Given the description of an element on the screen output the (x, y) to click on. 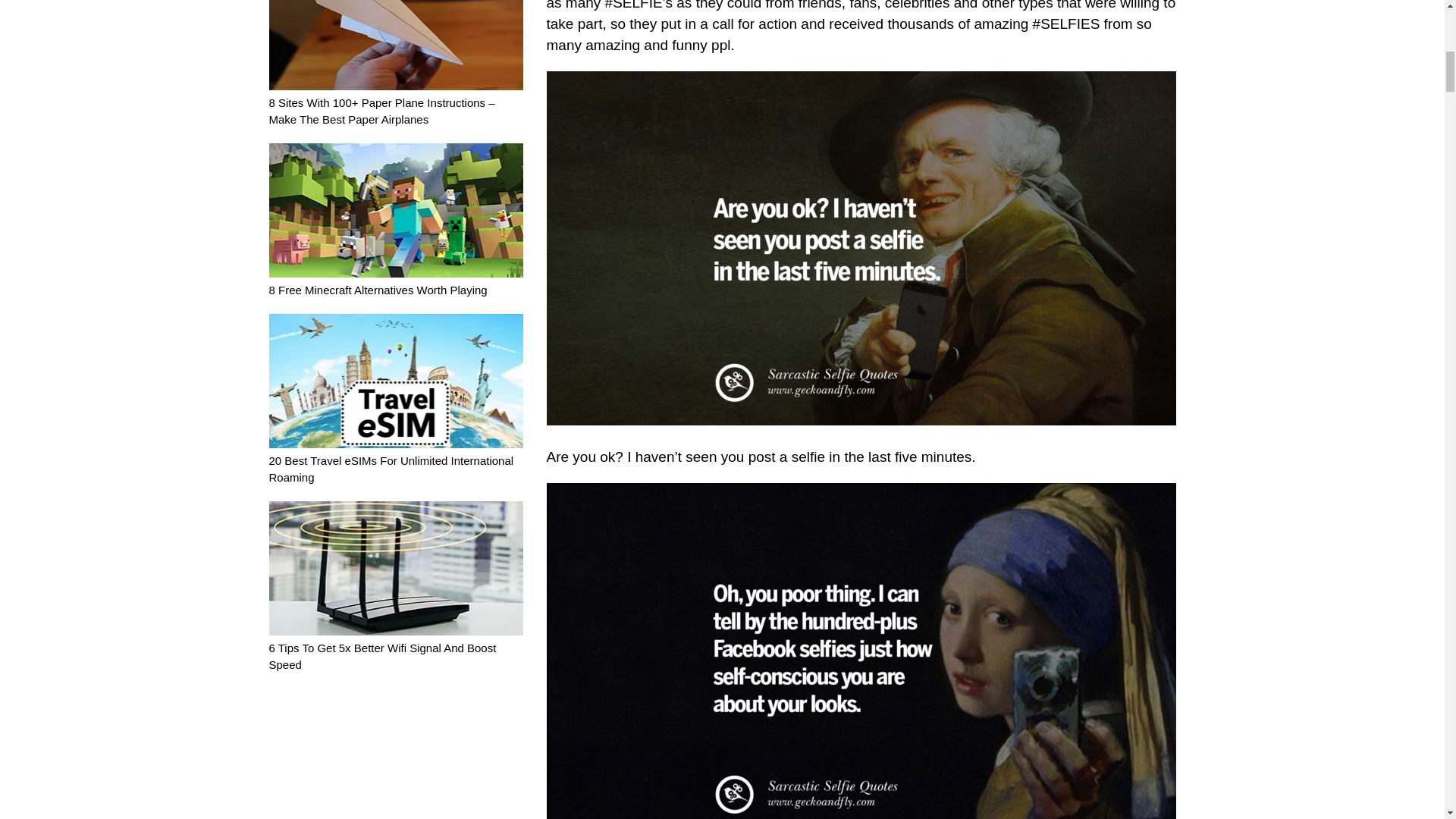
8 Free Minecraft Alternatives Worth Playing (394, 281)
20 Best Travel eSIMs For Unlimited International Roaming (394, 460)
6 Tips To Get 5x Better Wifi Signal And Boost Speed (394, 647)
